Given the description of an element on the screen output the (x, y) to click on. 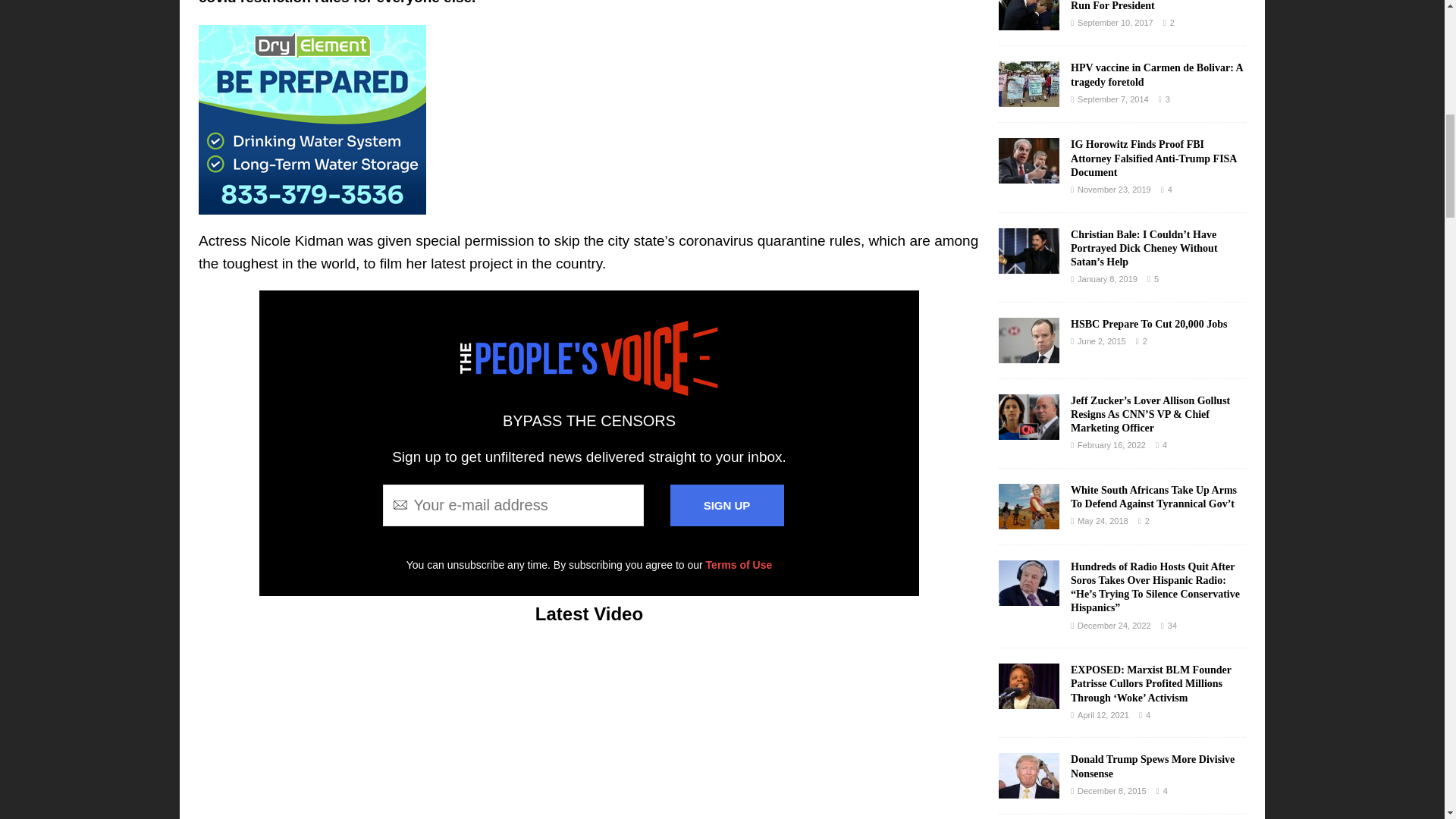
SIGN UP (726, 505)
